Given the description of an element on the screen output the (x, y) to click on. 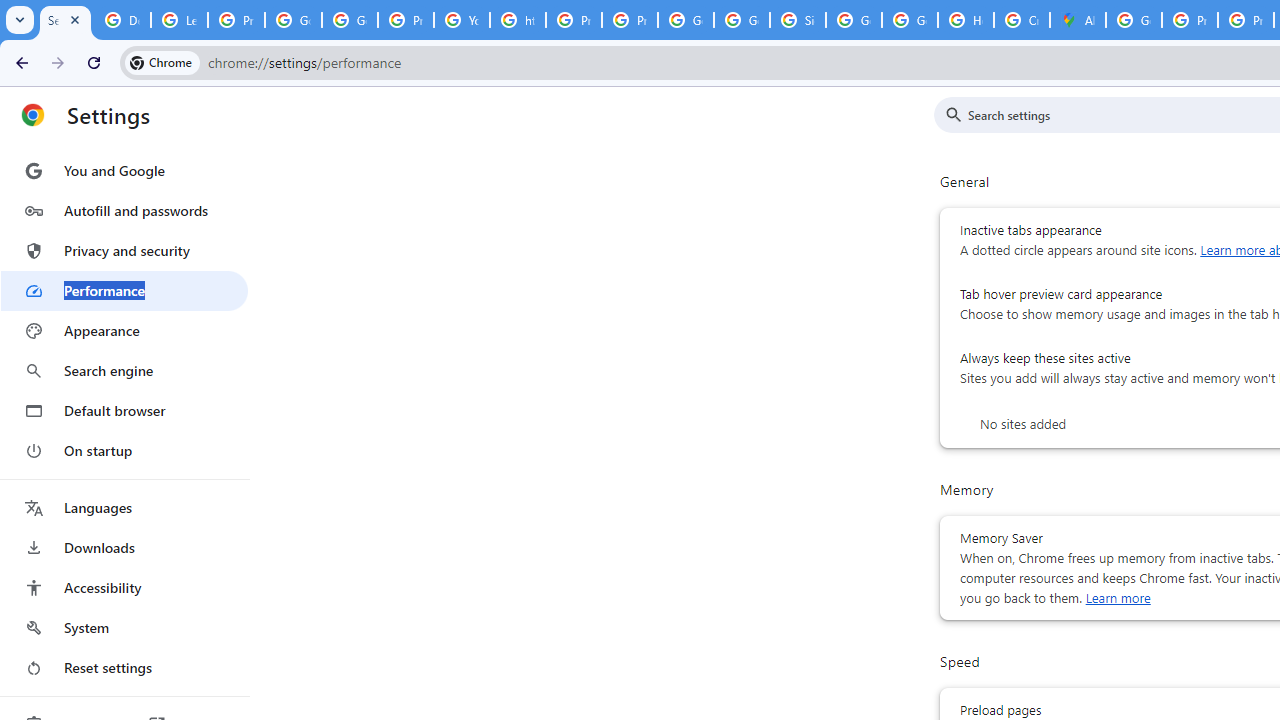
Settings - Performance (65, 20)
Privacy and security (124, 250)
On startup (124, 450)
Sign in - Google Accounts (797, 20)
Privacy Help Center - Policies Help (1190, 20)
Create your Google Account (1021, 20)
You and Google (124, 170)
Learn how to find your photos - Google Photos Help (179, 20)
